Given the description of an element on the screen output the (x, y) to click on. 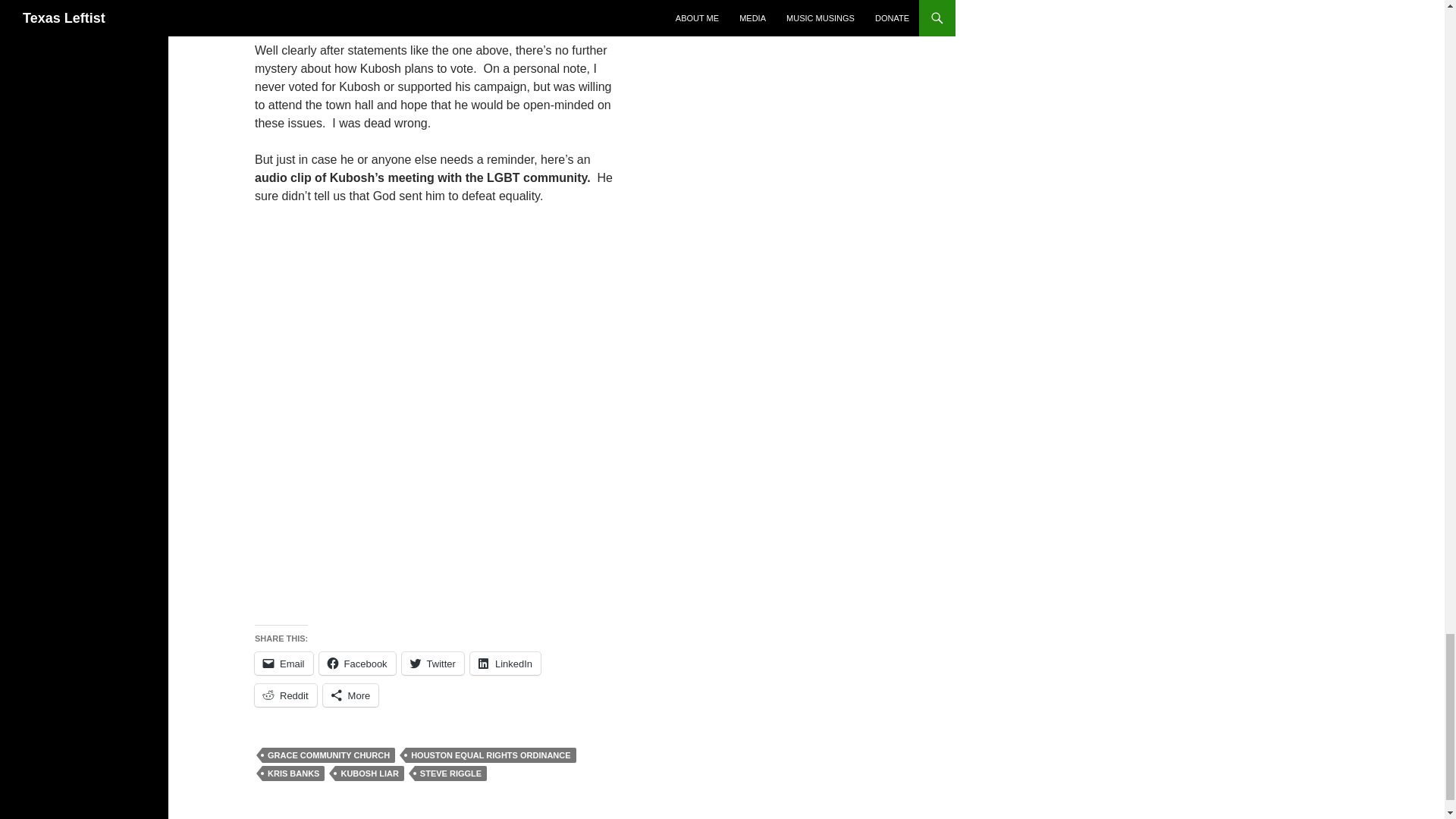
Click to share on Reddit (285, 694)
Click to share on Twitter (432, 662)
Click to share on Facebook (357, 662)
Click to email a link to a friend (283, 662)
Click to share on LinkedIn (505, 662)
